Given the description of an element on the screen output the (x, y) to click on. 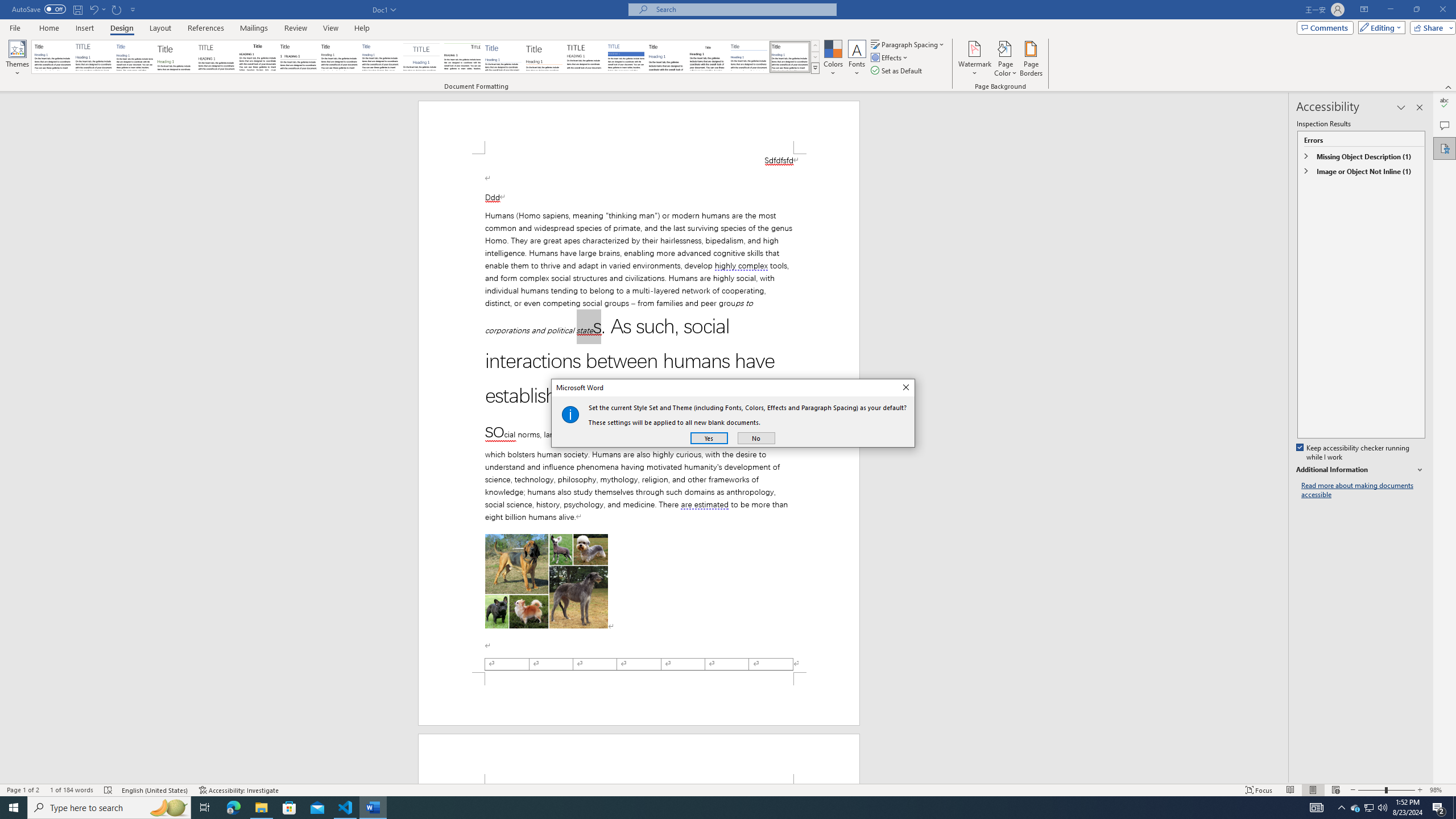
Class: Static (570, 414)
Type here to search (108, 807)
Style Set (814, 67)
Show desktop (1454, 807)
Black & White (Numbered) (298, 56)
Colors (832, 58)
Microsoft Store (289, 807)
Word 2013 (790, 56)
User Promoted Notification Area (1368, 807)
